Given the description of an element on the screen output the (x, y) to click on. 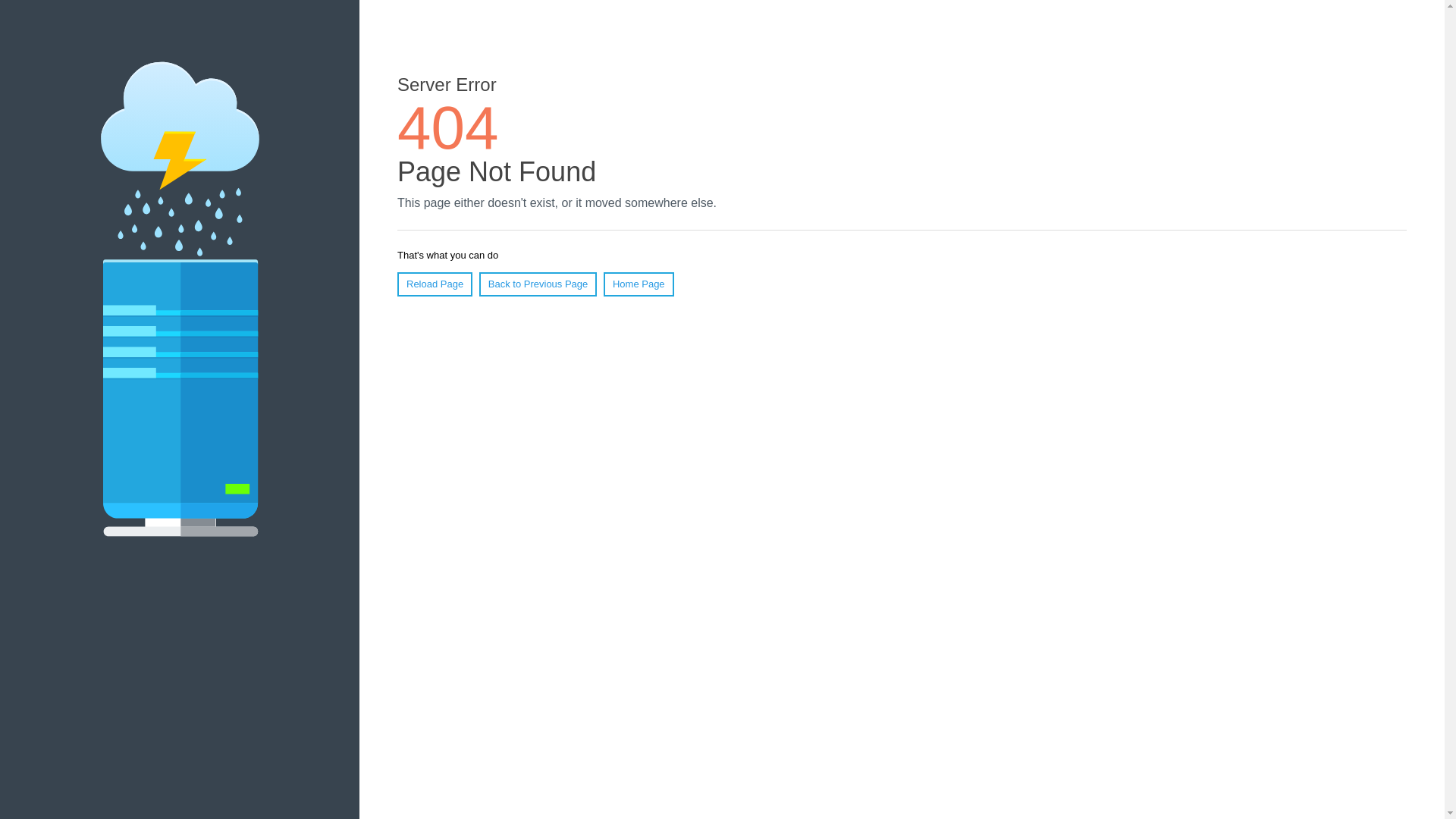
Reload Page (434, 283)
Home Page (639, 283)
Back to Previous Page (537, 283)
